Given the description of an element on the screen output the (x, y) to click on. 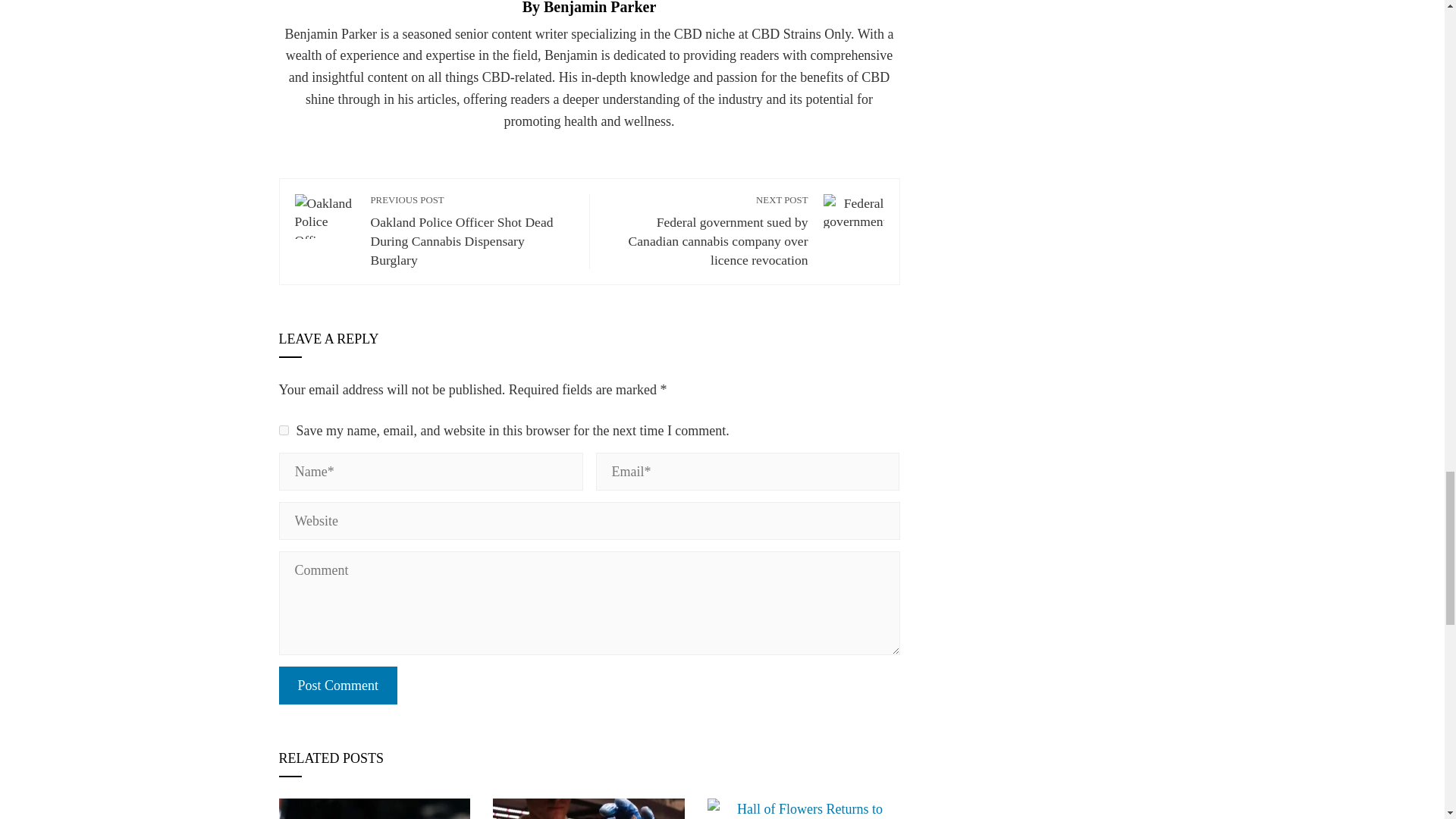
yes (283, 429)
Post Comment (338, 685)
Post Comment (338, 685)
